Given the description of an element on the screen output the (x, y) to click on. 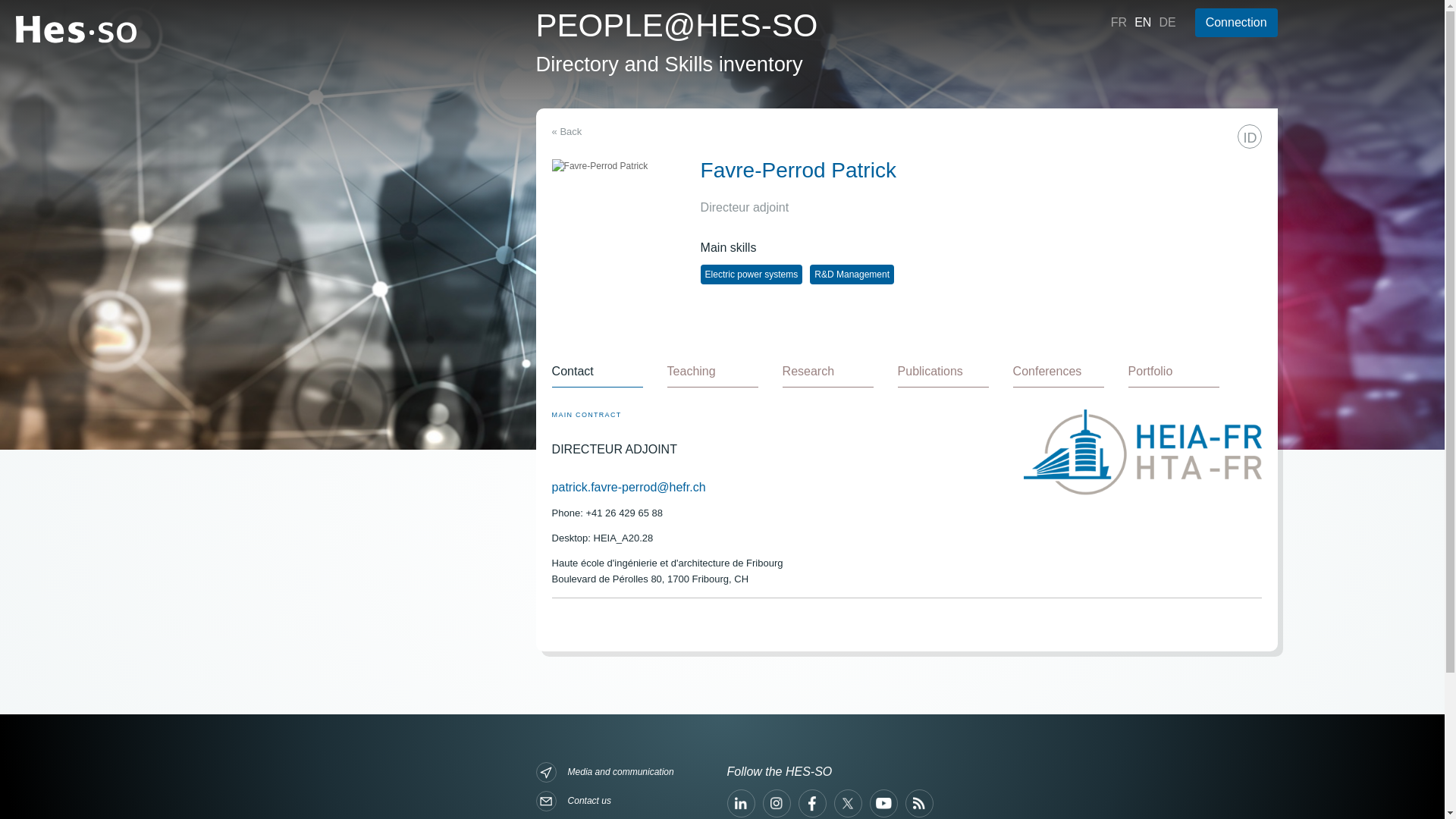
Connection (1236, 22)
Electric power systems (751, 274)
Conferences (1058, 371)
Recherche (894, 132)
ID (1249, 136)
Teaching (712, 371)
DE (1166, 21)
EN (1142, 21)
Publications (943, 371)
FR (1118, 21)
